Given the description of an element on the screen output the (x, y) to click on. 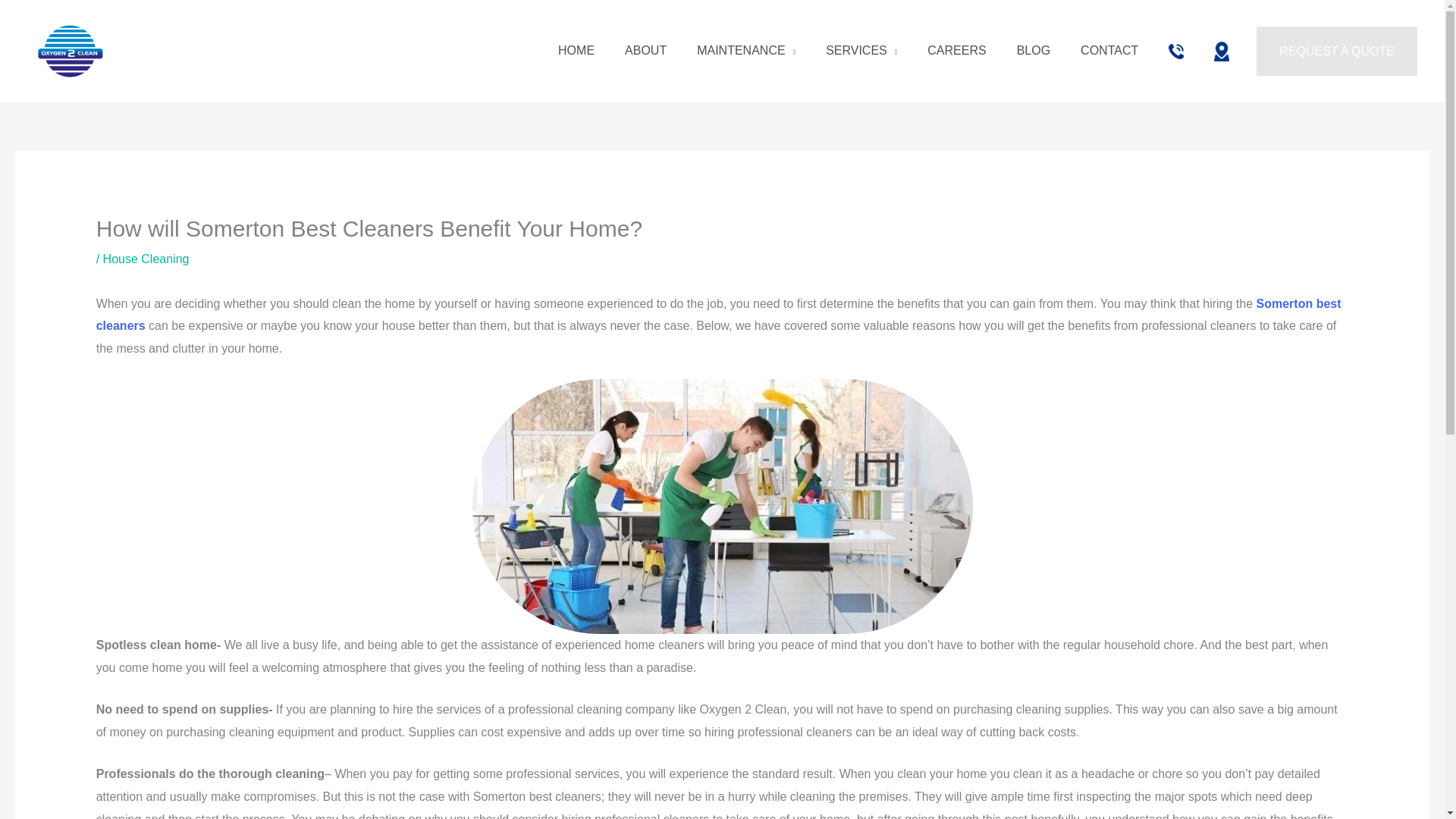
REQUEST A QUOTE (1336, 51)
HOME (576, 50)
MAINTENANCE (745, 50)
ABOUT (645, 50)
CAREERS (956, 50)
CONTACT (1109, 50)
Somerton best cleaners (718, 314)
BLOG (1033, 50)
SERVICES (861, 50)
House Cleaning (146, 258)
